Given the description of an element on the screen output the (x, y) to click on. 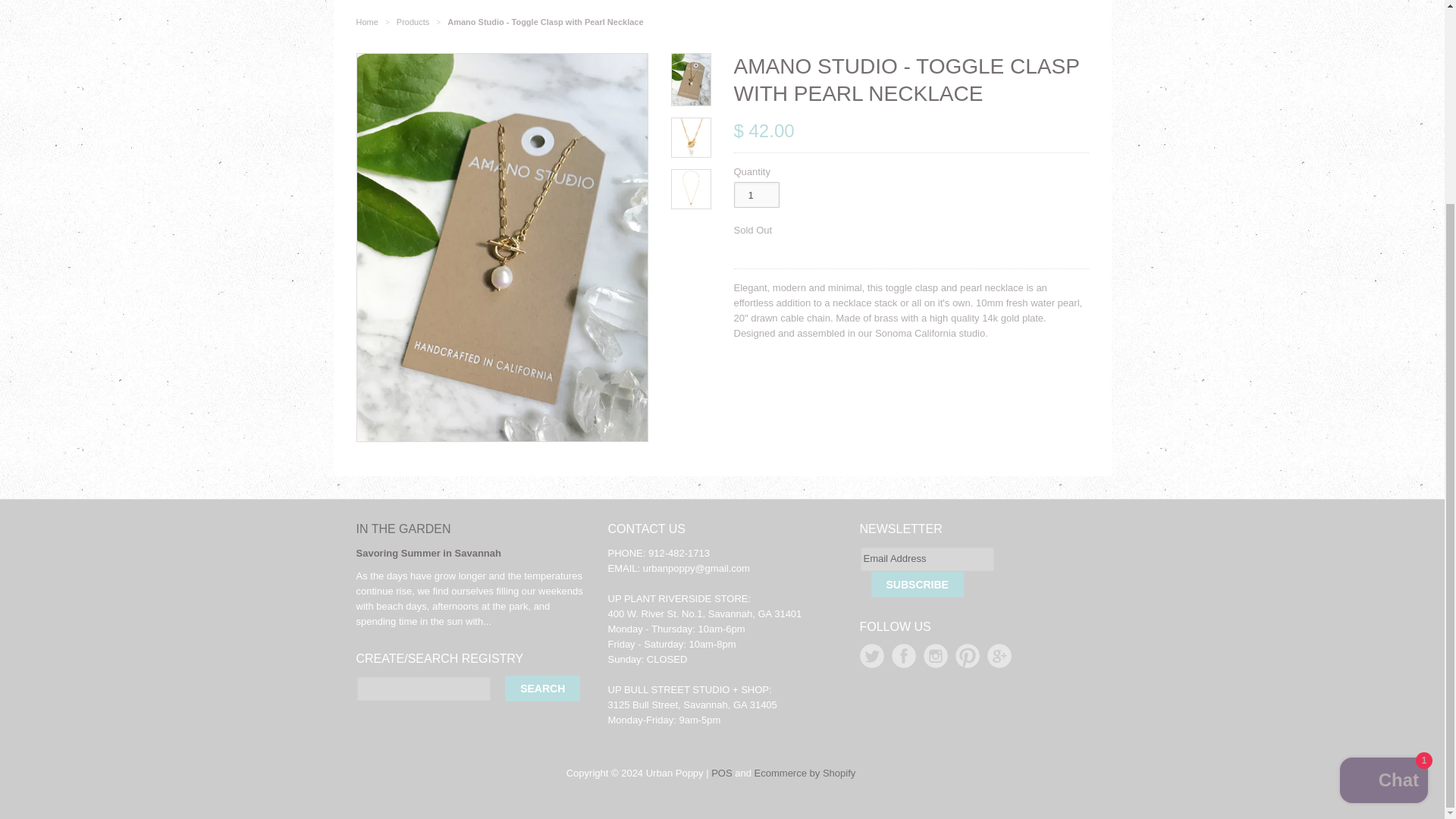
Pinterest (967, 655)
Products (412, 21)
Urban Poppy on Pinterest (967, 655)
Urban Poppy on Facebook (903, 655)
Search (542, 688)
Subscribe (916, 584)
Urban Poppy on Twitter (871, 655)
Search (542, 688)
Home (367, 21)
Facebook (903, 655)
All Products (412, 21)
Urban Poppy (367, 21)
Savoring Summer in Savannah (428, 552)
Shopify online store chat (1383, 521)
Twitter (871, 655)
